Given the description of an element on the screen output the (x, y) to click on. 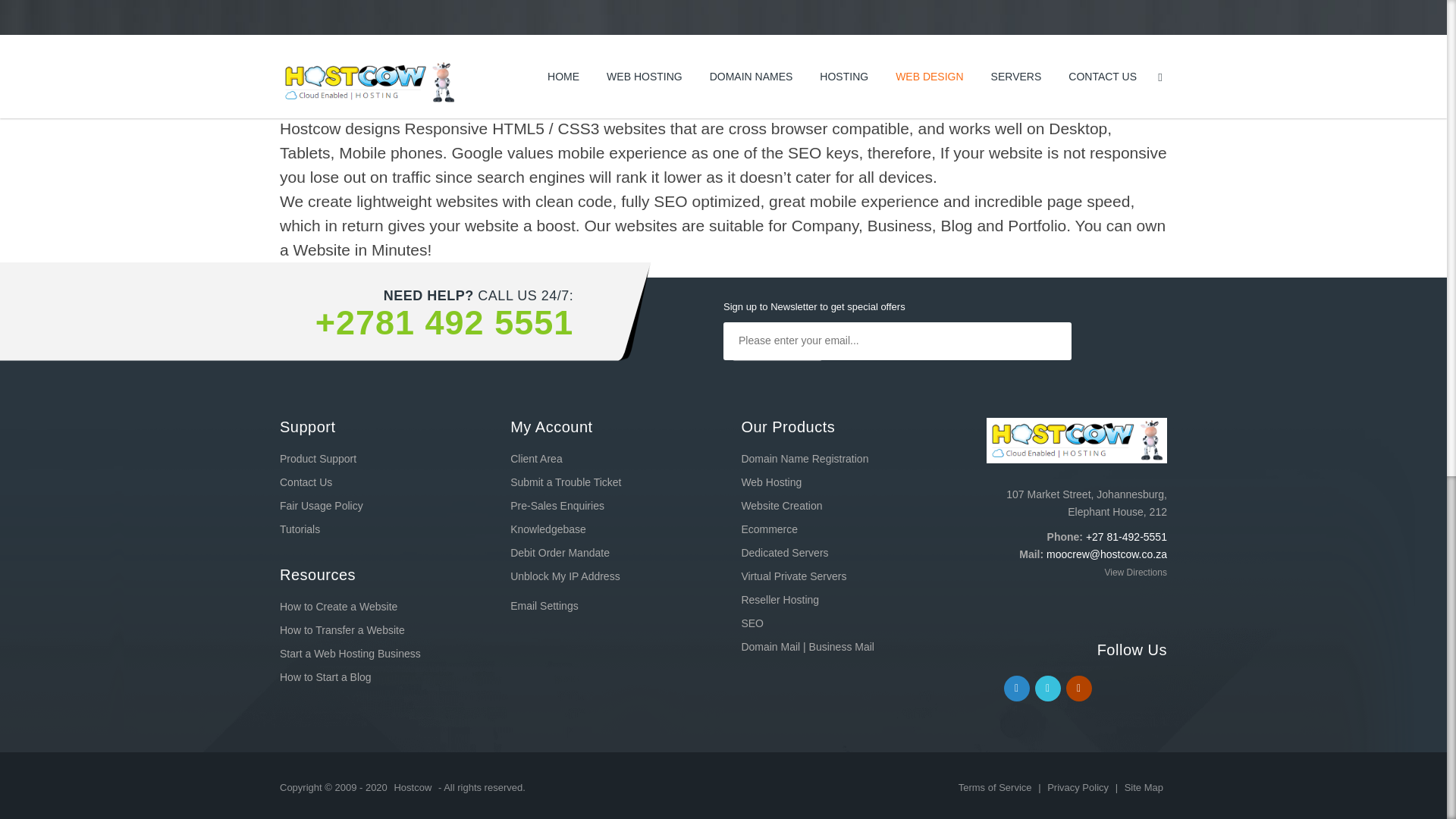
Product Support (317, 458)
How to Transfer a Website (341, 630)
Contact Us (305, 481)
Start a Web Hosting Business (349, 653)
Fair Usage Policy (320, 505)
How to Create a Website (338, 606)
Sign Up (777, 379)
Tutorials (299, 529)
Sign Up (777, 379)
